Given the description of an element on the screen output the (x, y) to click on. 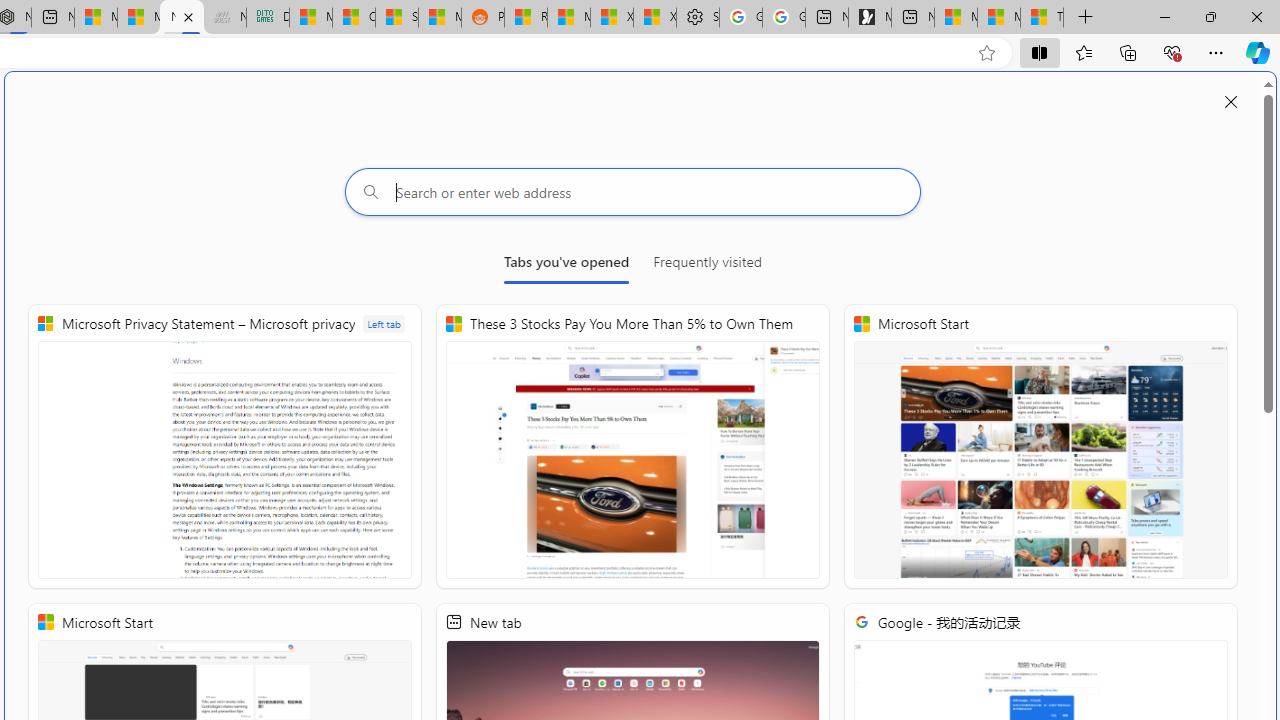
New split screen (182, 17)
These 3 Stocks Pay You More Than 5% to Own Them (632, 446)
DITOGAMES AG Imprint (268, 17)
MSN (439, 17)
